Given the description of an element on the screen output the (x, y) to click on. 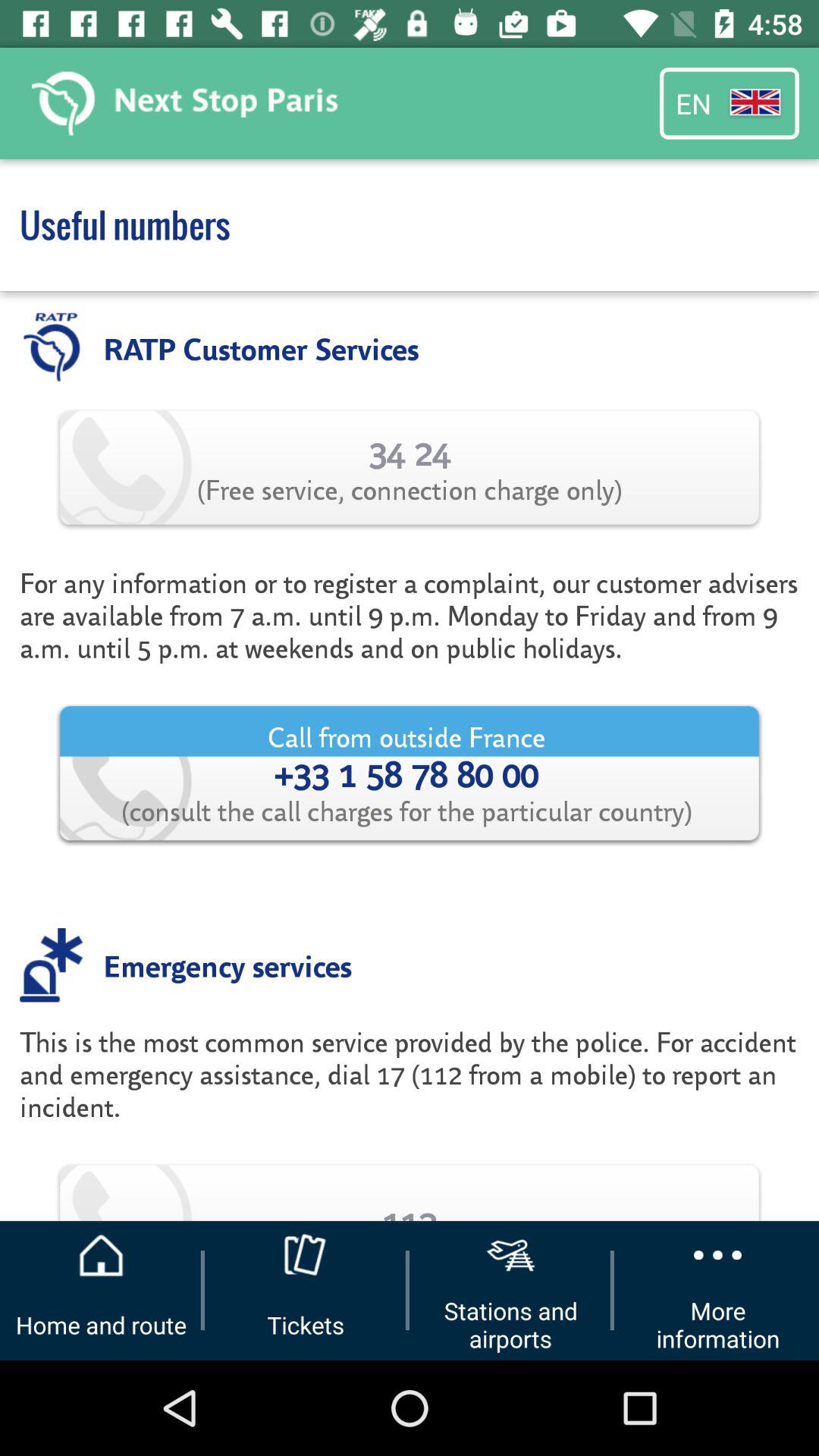
scroll until 34 24 free (409, 467)
